Given the description of an element on the screen output the (x, y) to click on. 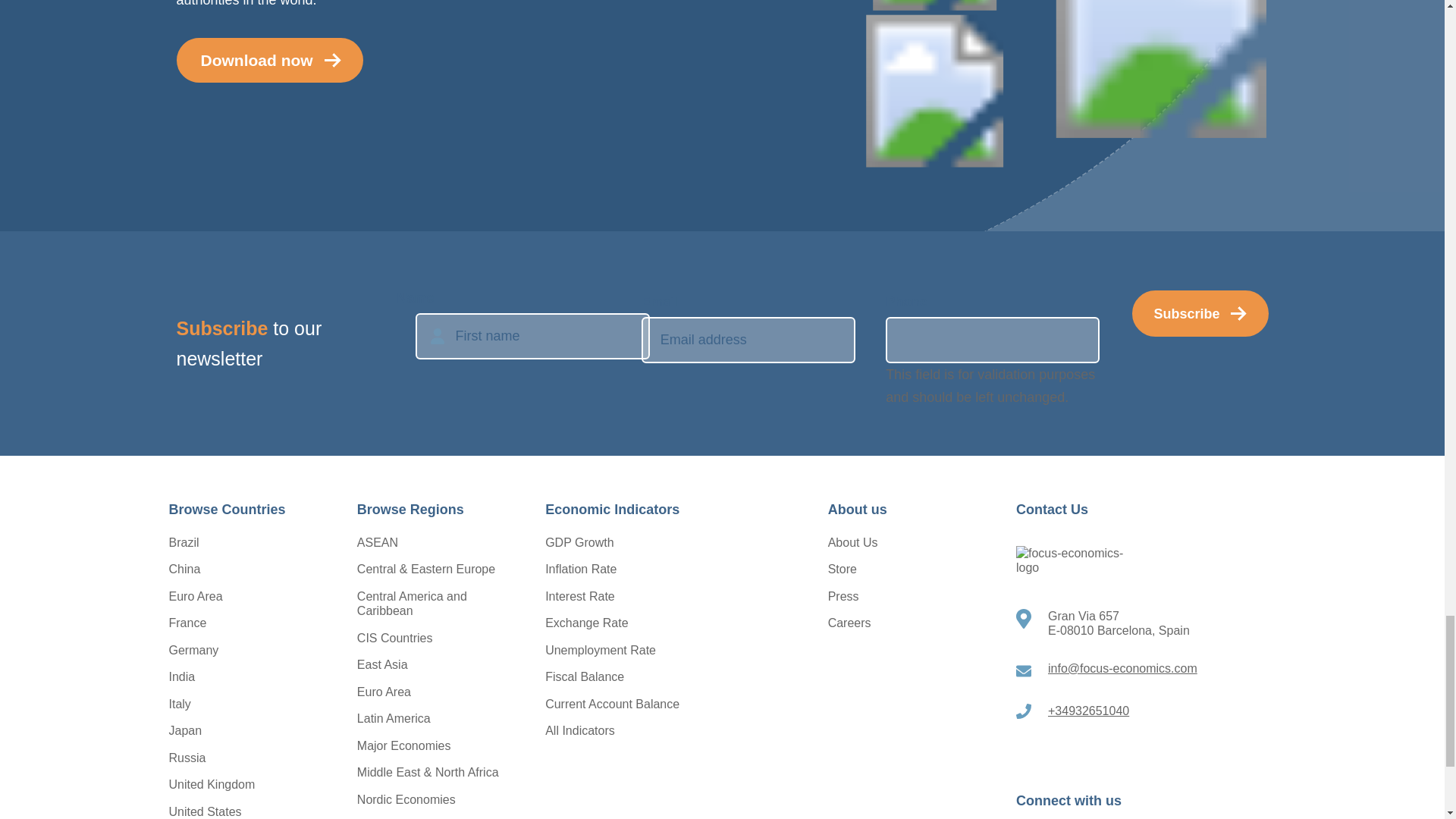
Subscribe (1200, 312)
